Given the description of an element on the screen output the (x, y) to click on. 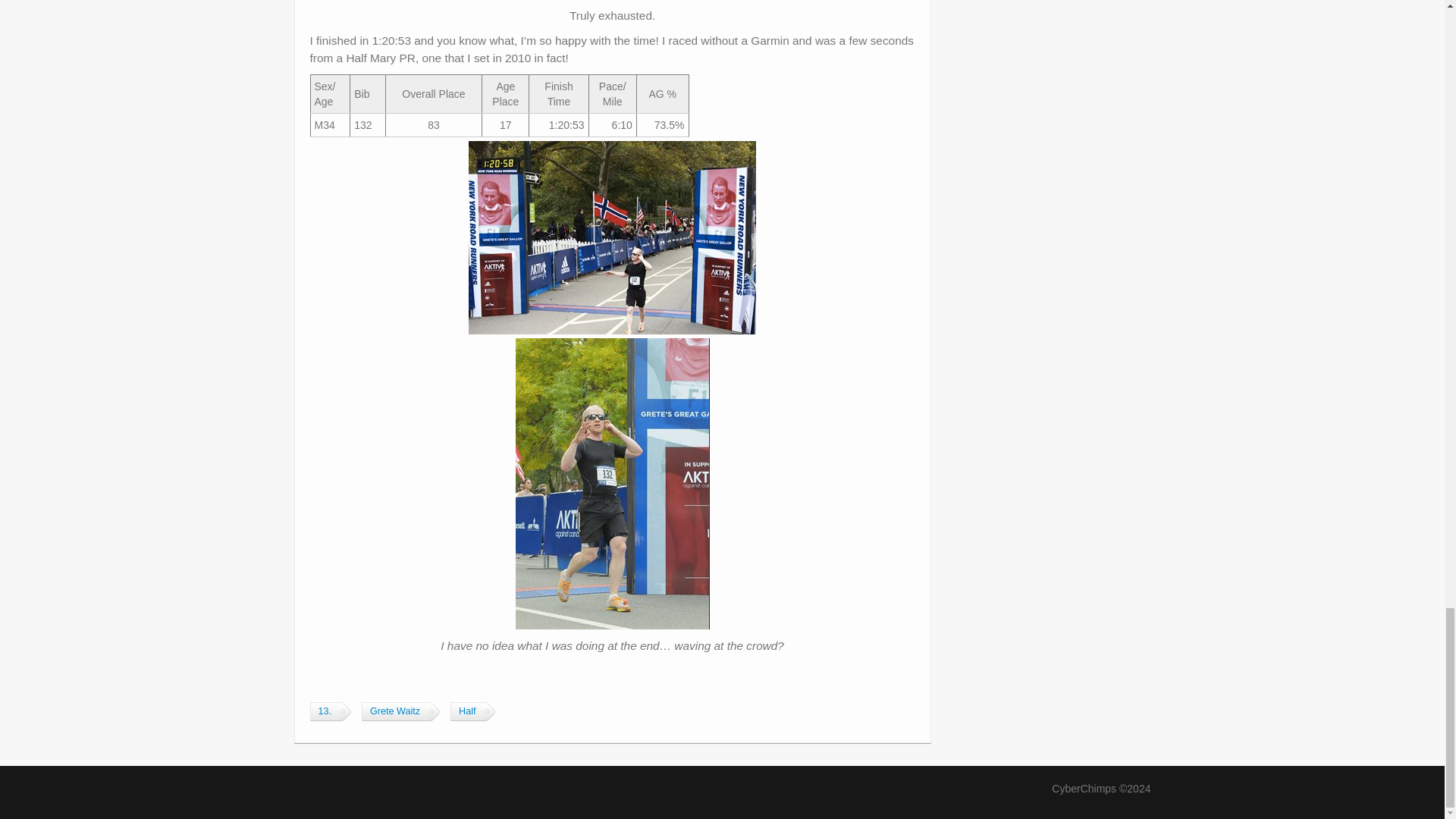
Grete Waitz (394, 711)
Half (466, 711)
13. (323, 711)
